Given the description of an element on the screen output the (x, y) to click on. 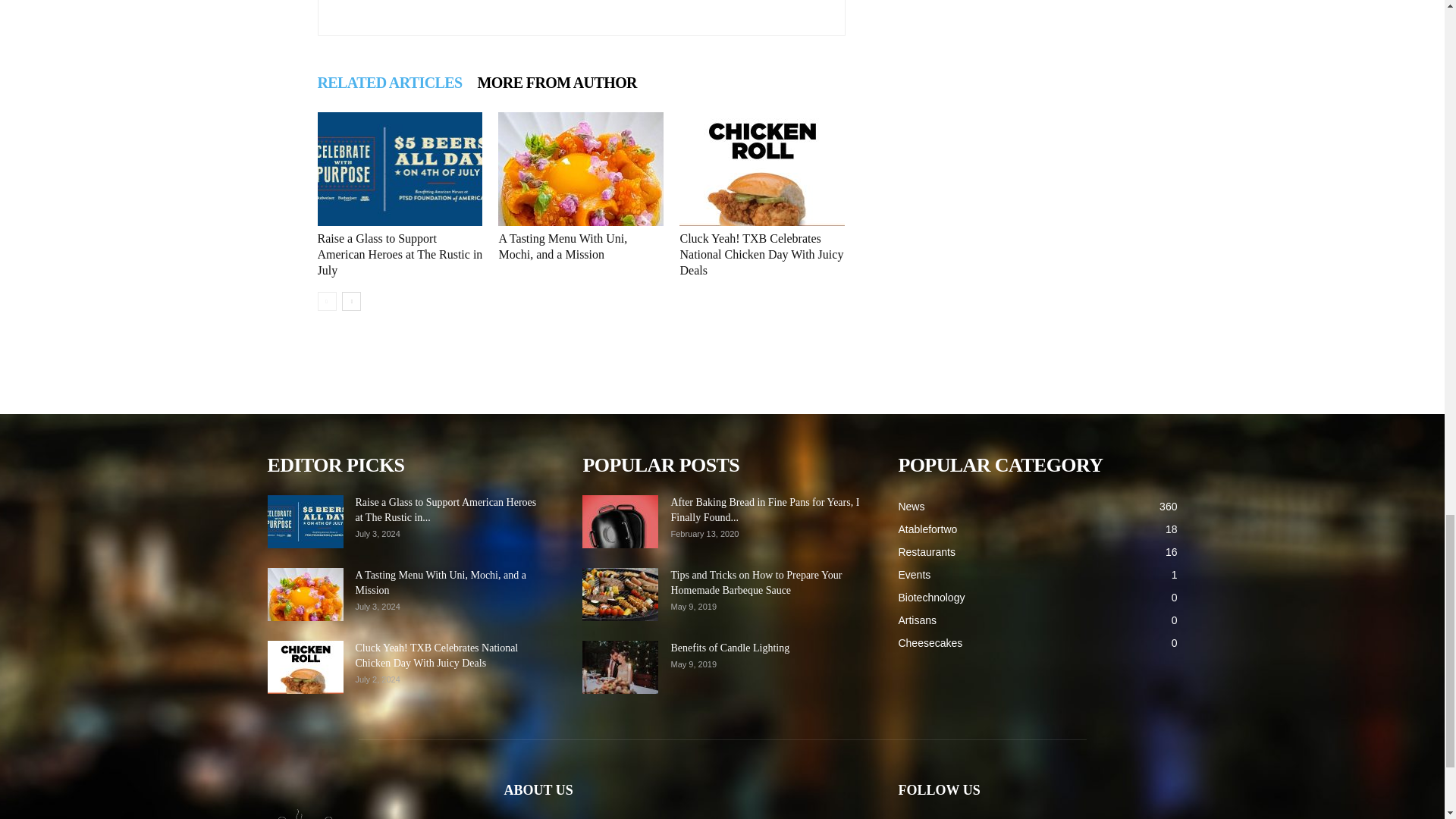
A Tasting Menu With Uni, Mochi, and a Mission (562, 246)
A Tasting Menu With Uni, Mochi, and a Mission (580, 169)
